Given the description of an element on the screen output the (x, y) to click on. 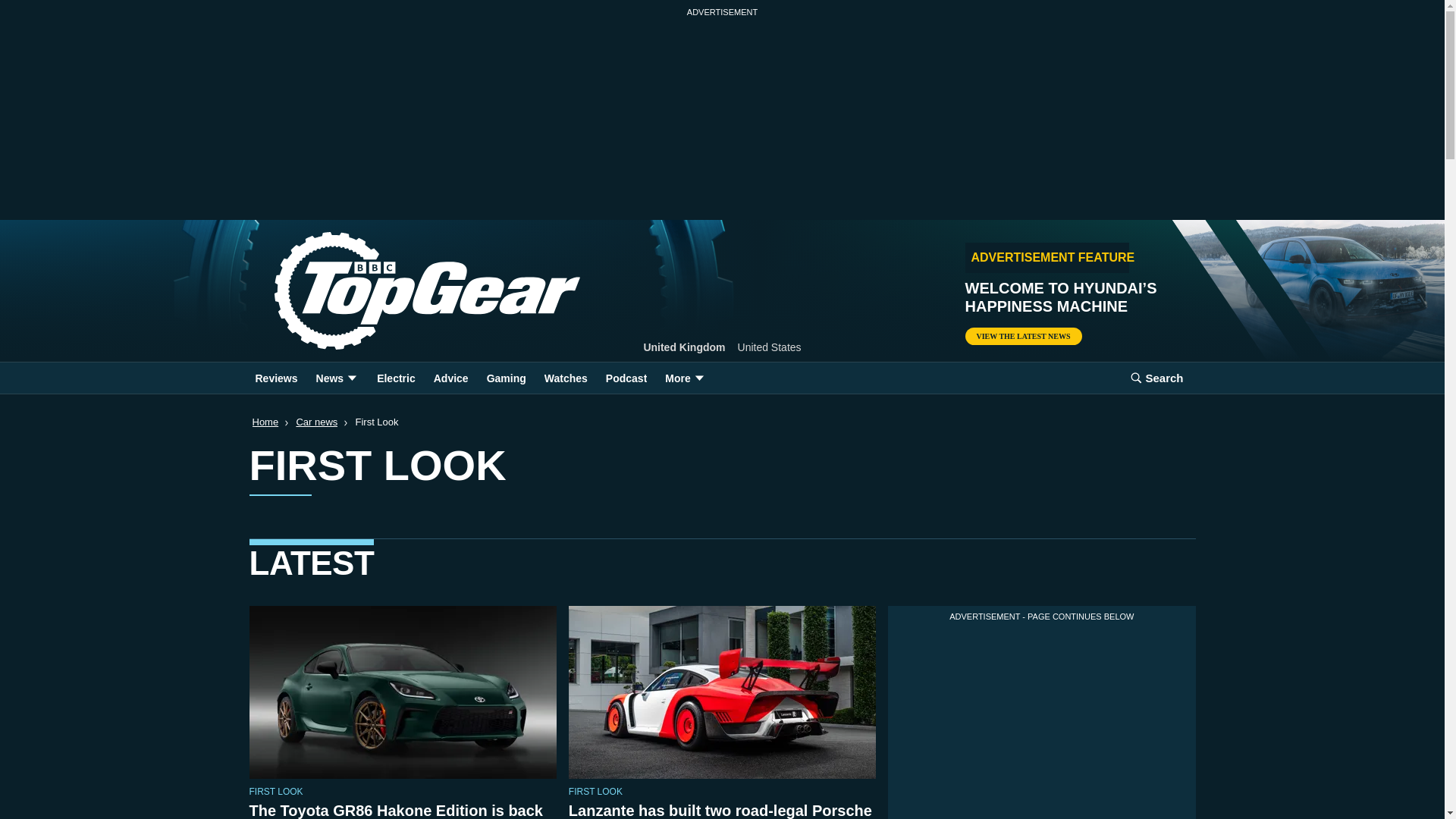
News (337, 377)
Watches (566, 377)
Reviews (275, 377)
Search (1156, 377)
Search (1156, 377)
United Kingdom (684, 347)
Home (264, 421)
Electric (396, 377)
Car news (316, 421)
Home (401, 290)
Advice (451, 377)
3rd party ad content (1042, 721)
